Given the description of an element on the screen output the (x, y) to click on. 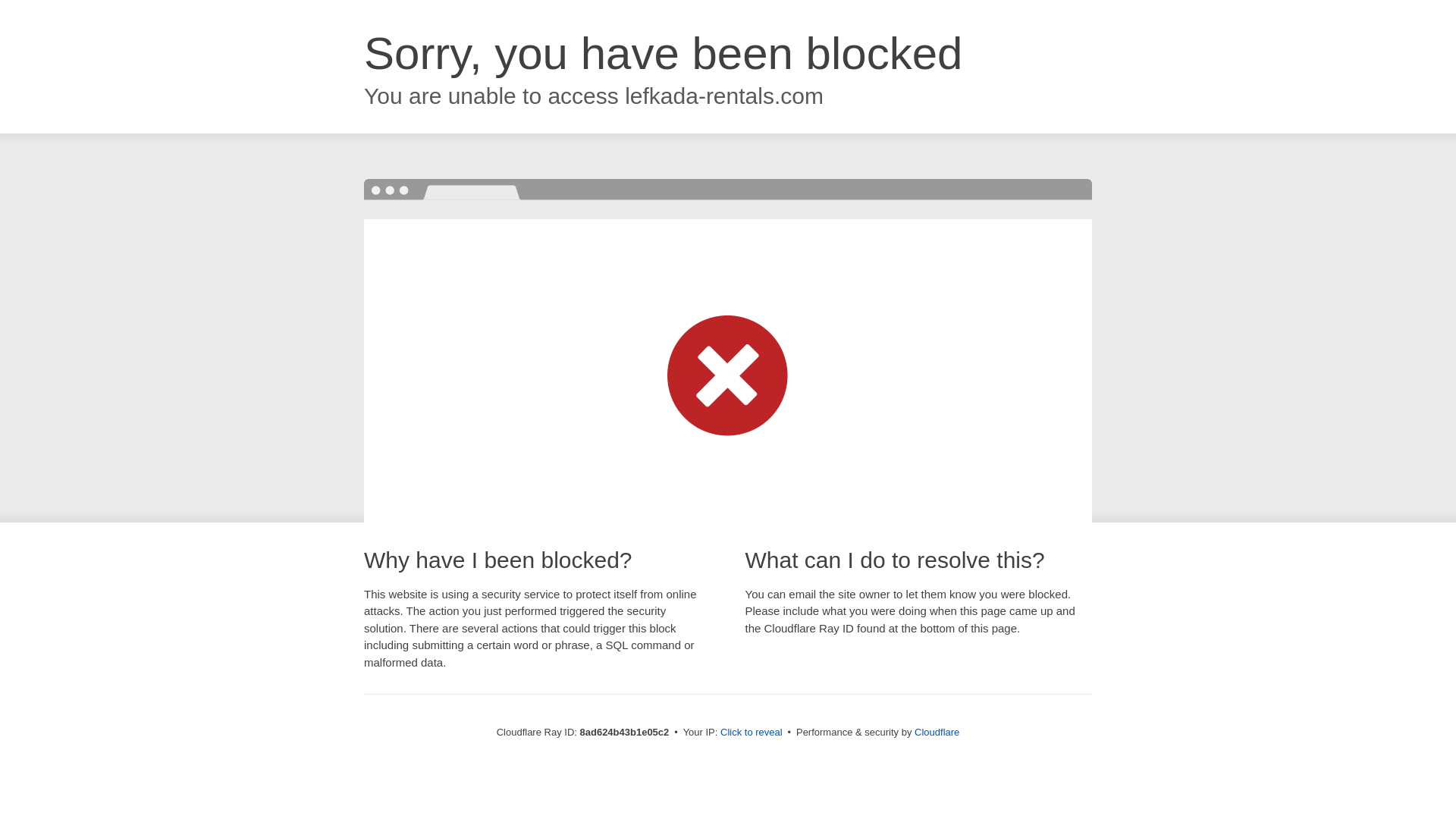
Cloudflare (936, 731)
Click to reveal (751, 732)
